Given the description of an element on the screen output the (x, y) to click on. 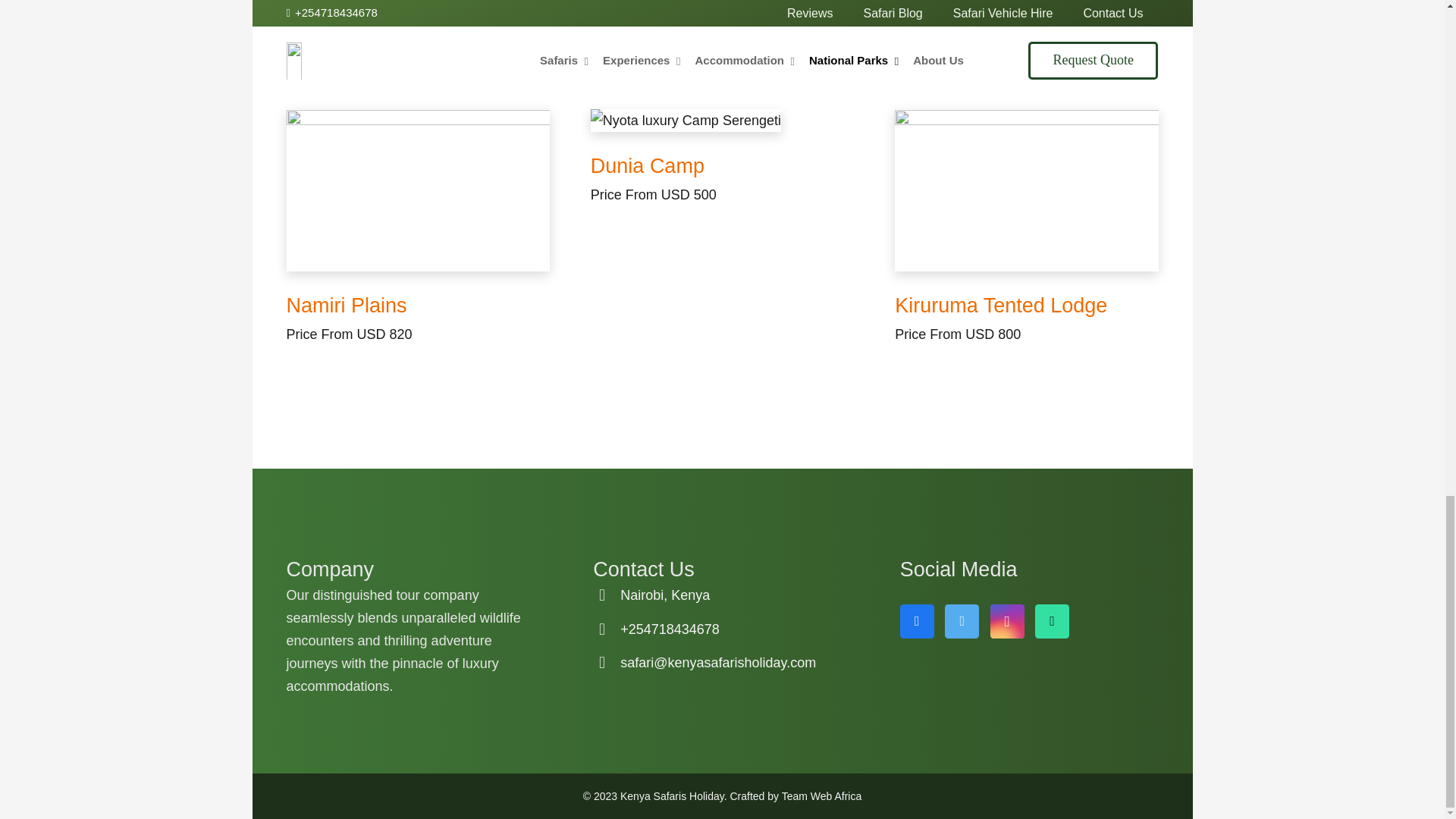
Facebook (916, 621)
Namiri Plains (418, 189)
Dunia Camp (647, 165)
Twitter (961, 621)
Dunia Camp (722, 119)
Instagram (1007, 621)
Tripadvisor (1051, 621)
Kirurumu Tented Lodge (1000, 305)
Namiri Plains (346, 305)
Kirurumu Tented Lodge (1026, 189)
